Given the description of an element on the screen output the (x, y) to click on. 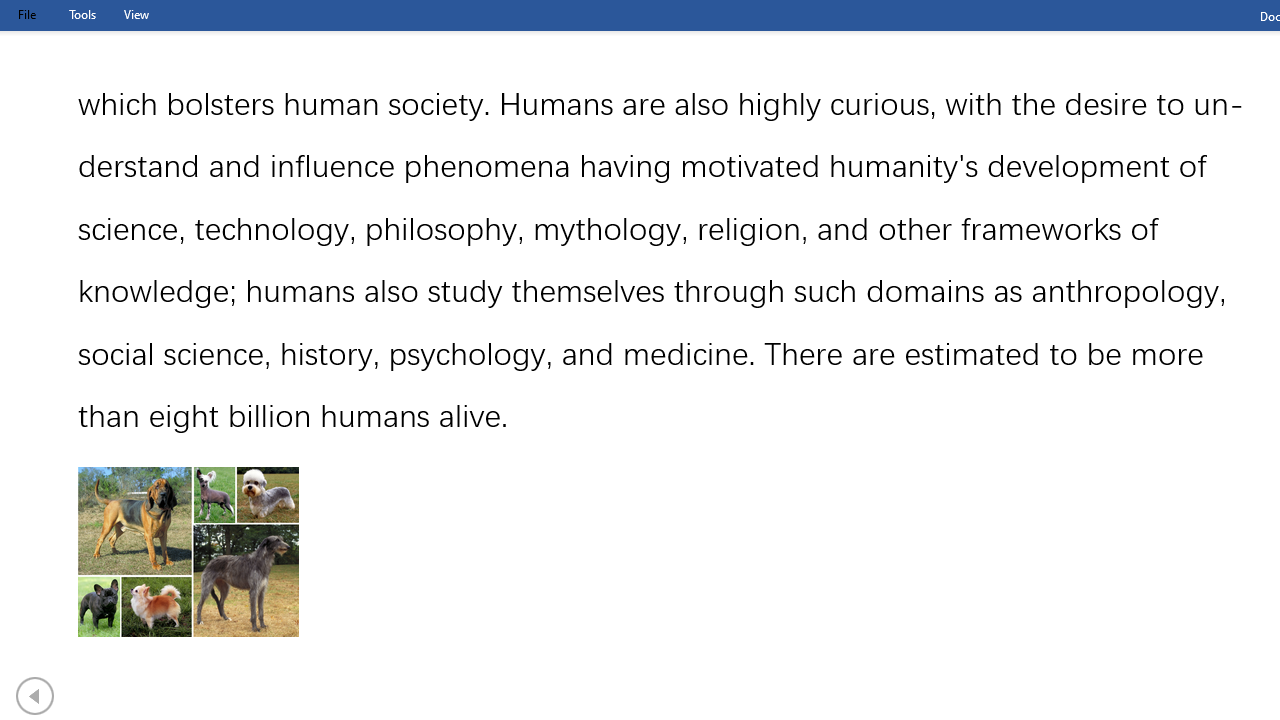
Morphological variation in six dogs (188, 552)
Tools (82, 14)
